Given the description of an element on the screen output the (x, y) to click on. 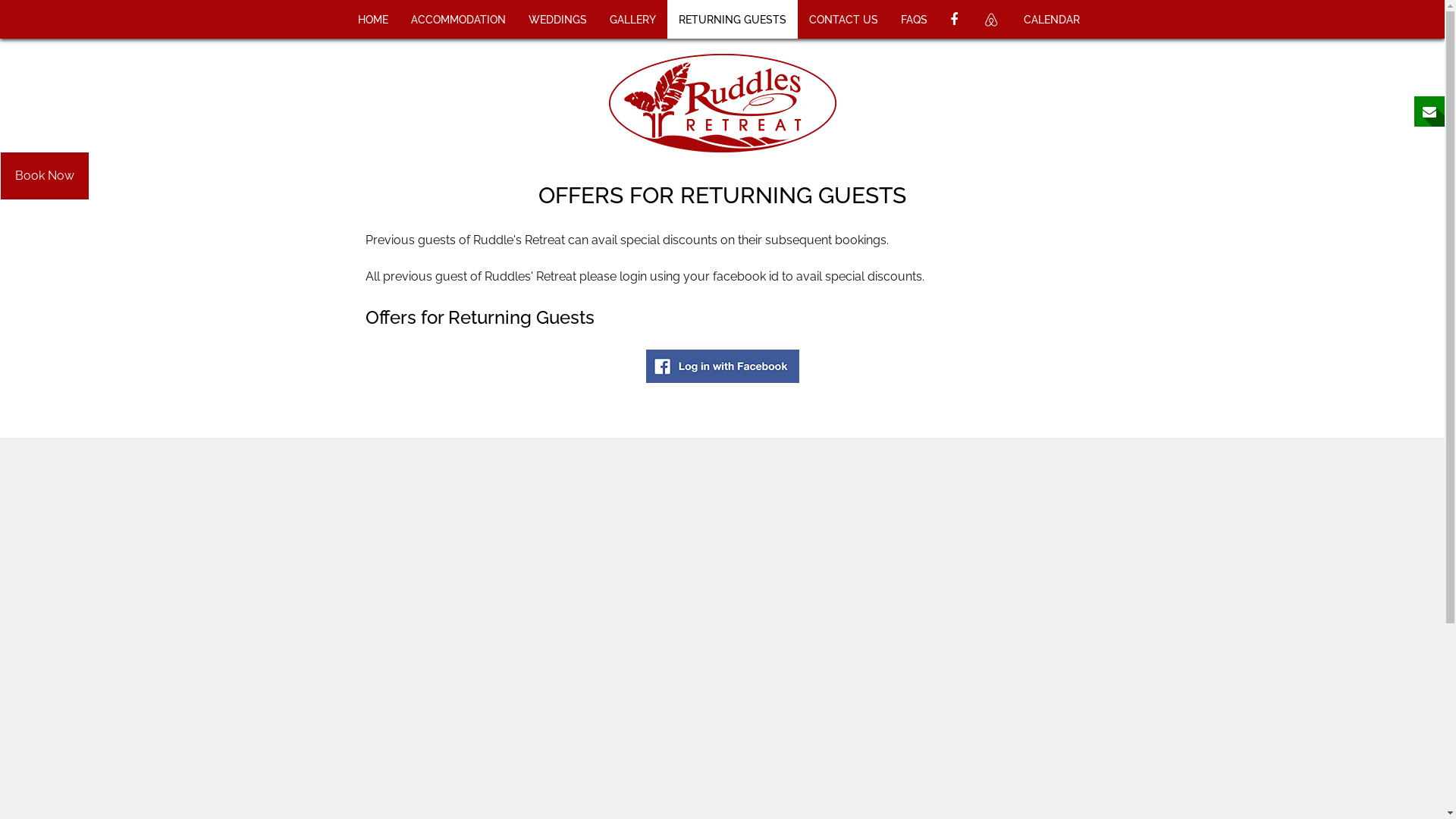
RETURNING GUESTS Element type: text (732, 19)
CONTACT US Element type: text (843, 19)
CALENDAR Element type: text (1050, 19)
Book Now Element type: text (44, 175)
Ruddle's Retreat - Maleny Element type: hover (722, 102)
FAQS Element type: text (913, 19)
WEDDINGS Element type: text (557, 19)
GALLERY Element type: text (631, 19)
ACCOMMODATION Element type: text (457, 19)
Facebook Element type: hover (955, 19)
Airbnb Element type: hover (991, 19)
HOME Element type: text (371, 19)
